Given the description of an element on the screen output the (x, y) to click on. 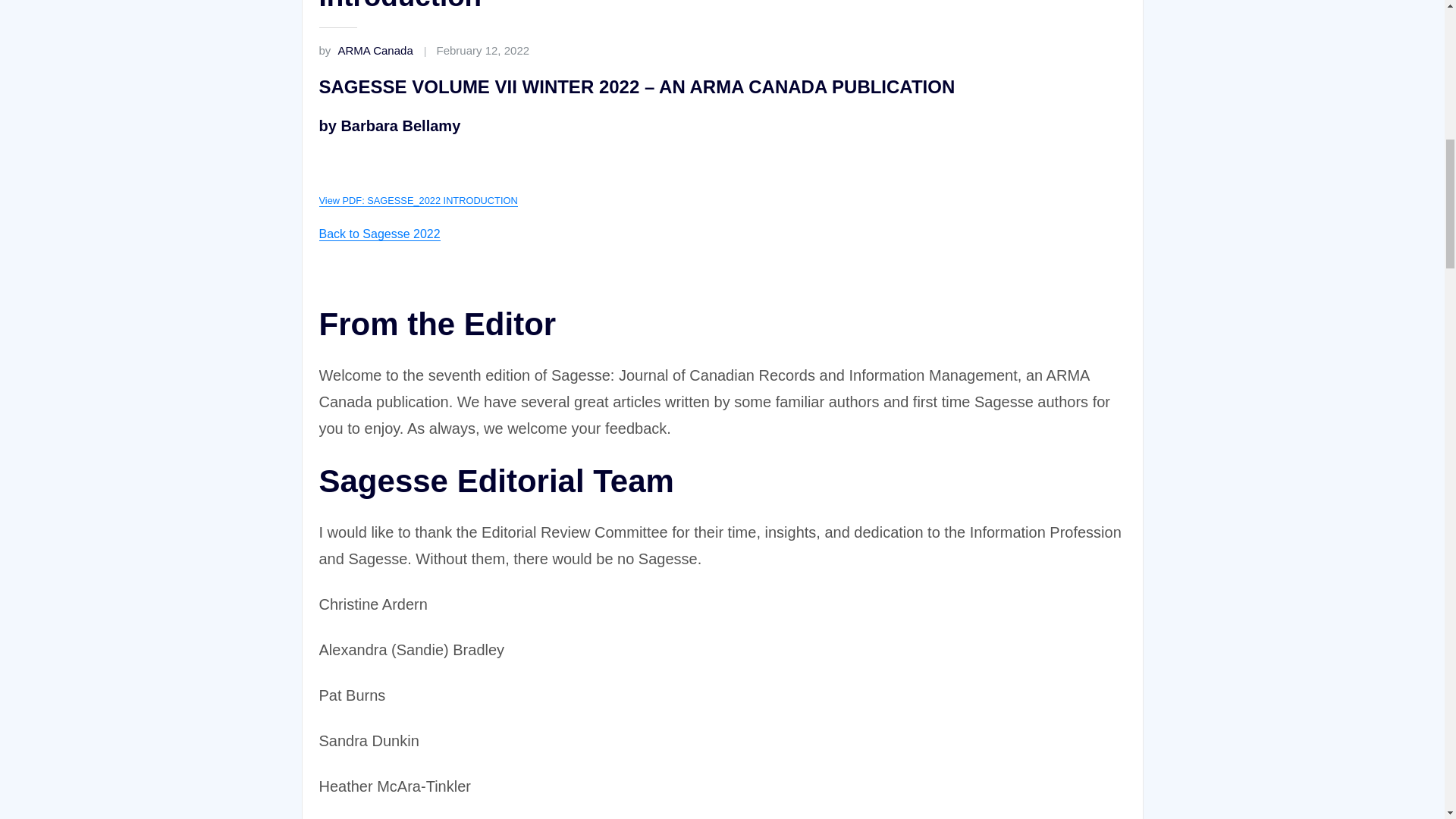
by ARMA Canada (365, 50)
Back to Sagesse 2022 (378, 233)
February 12, 2022 (482, 50)
